Given the description of an element on the screen output the (x, y) to click on. 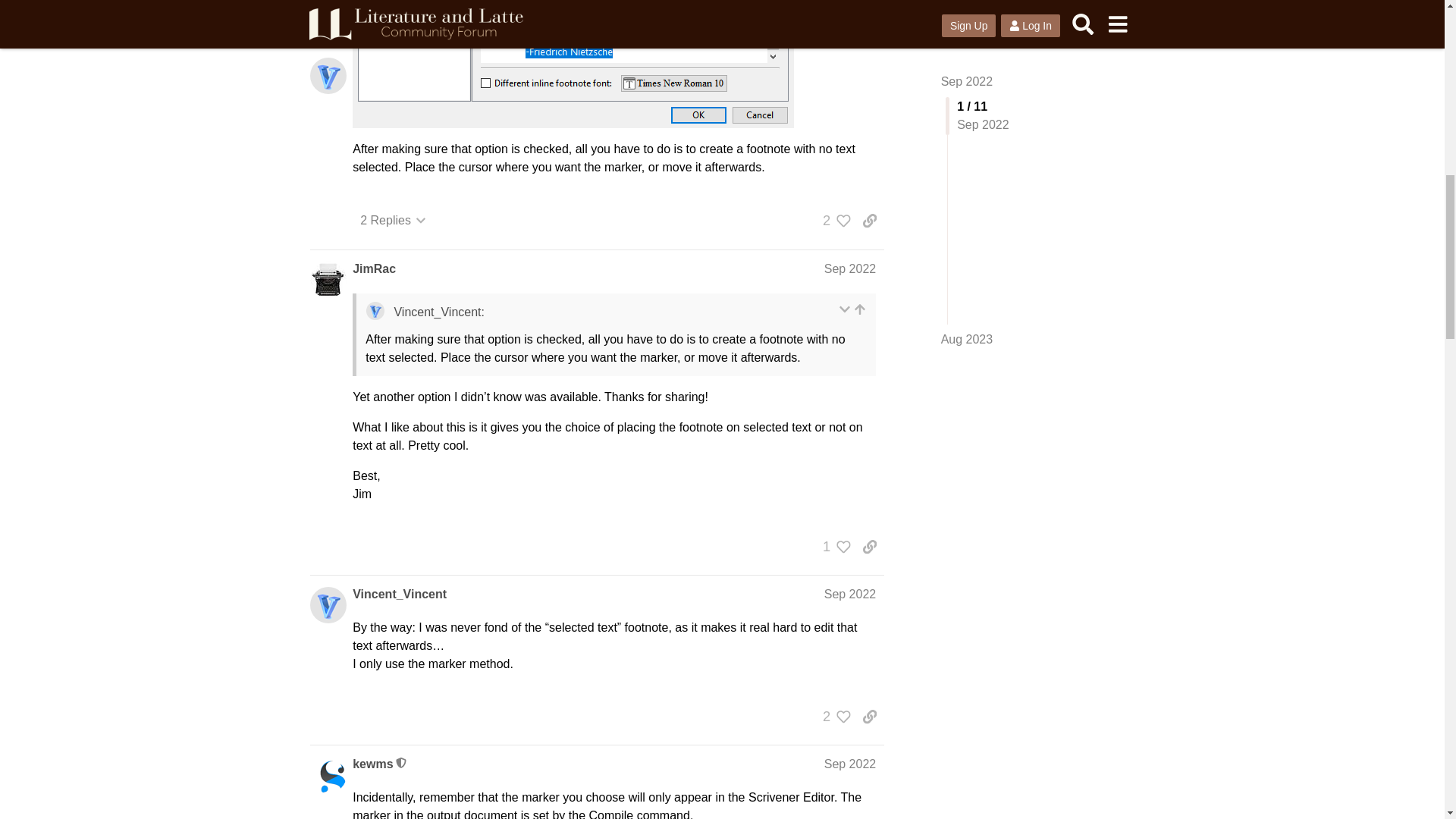
1 (832, 546)
Sep 2022 (850, 268)
JimRac (374, 269)
2 Replies (392, 220)
2 (832, 220)
